Given the description of an element on the screen output the (x, y) to click on. 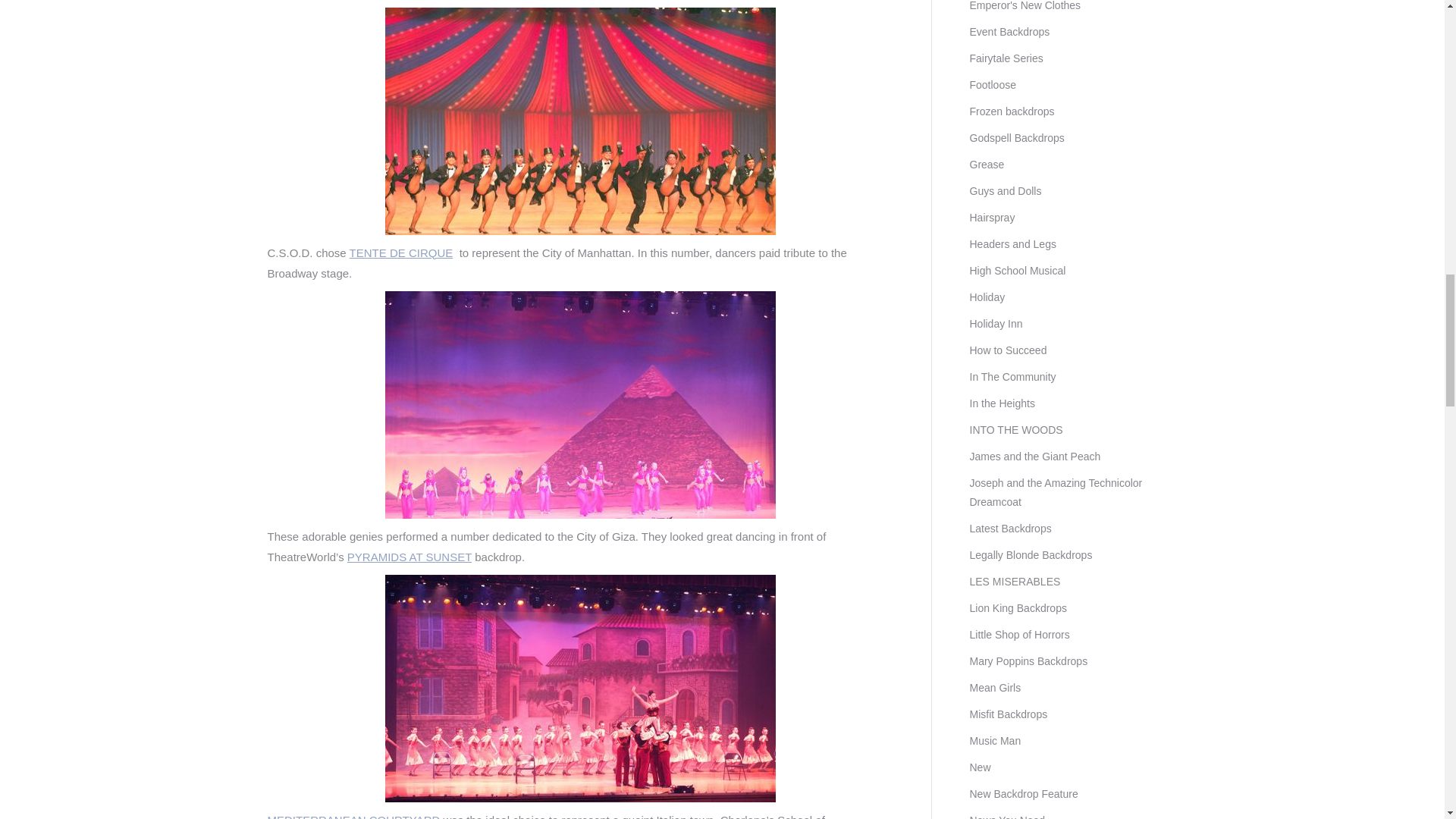
Mediterranean Courtyard Backdrop Charlene's School of Dance (580, 688)
PYRAMIDS AT SUNSET (409, 556)
TENTE DE CIRQUE (400, 252)
Tente De Cirque Backdrop Charlene's School of Dance (580, 121)
MEDITERRANEAN COURTYARD (352, 816)
Pyramids at Sunset Backdrop Charlene's School of Dance (580, 404)
